Given the description of an element on the screen output the (x, y) to click on. 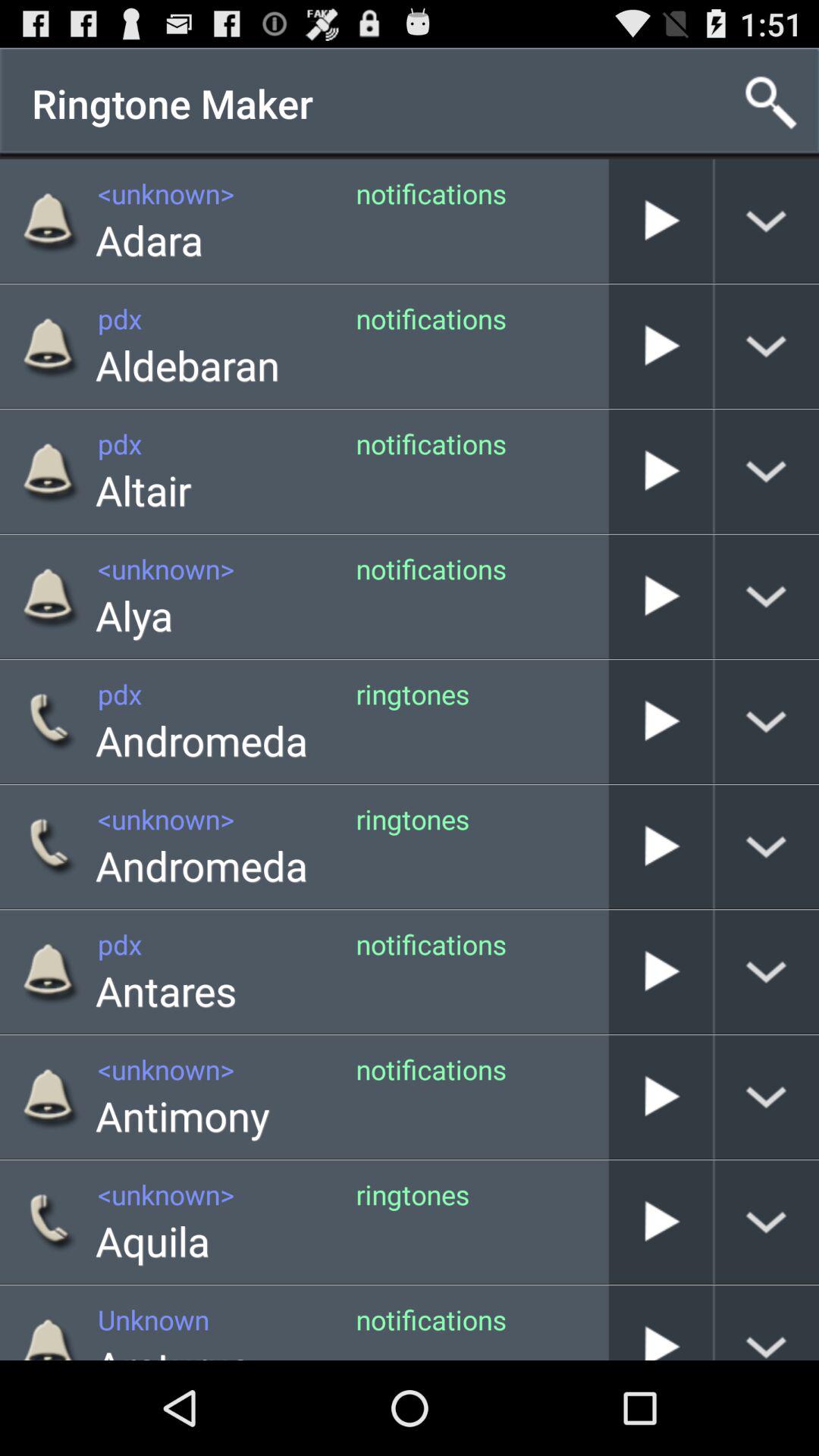
click the item next to notifications (608, 221)
